Given the description of an element on the screen output the (x, y) to click on. 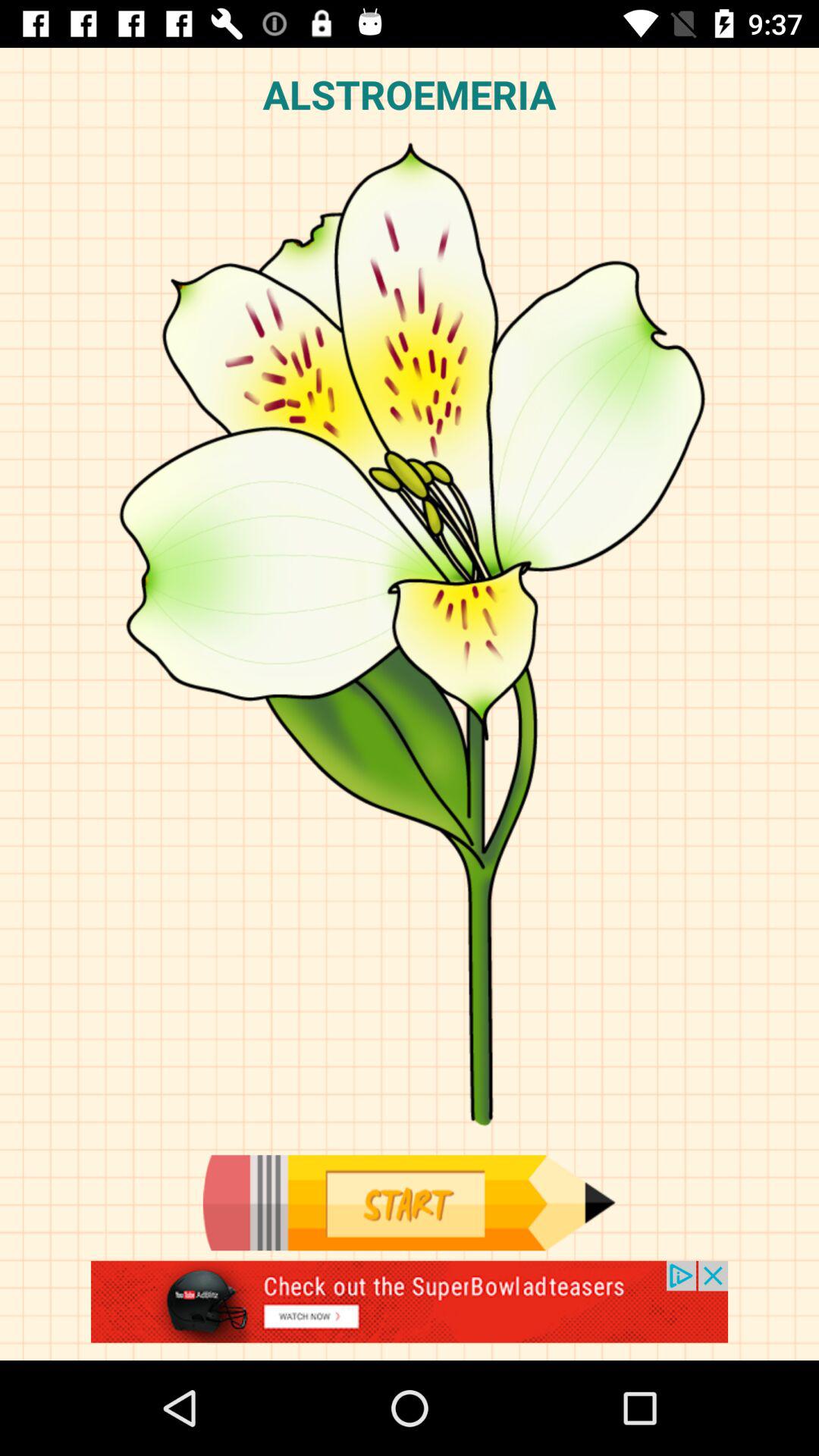
goes to next page (409, 1202)
